Given the description of an element on the screen output the (x, y) to click on. 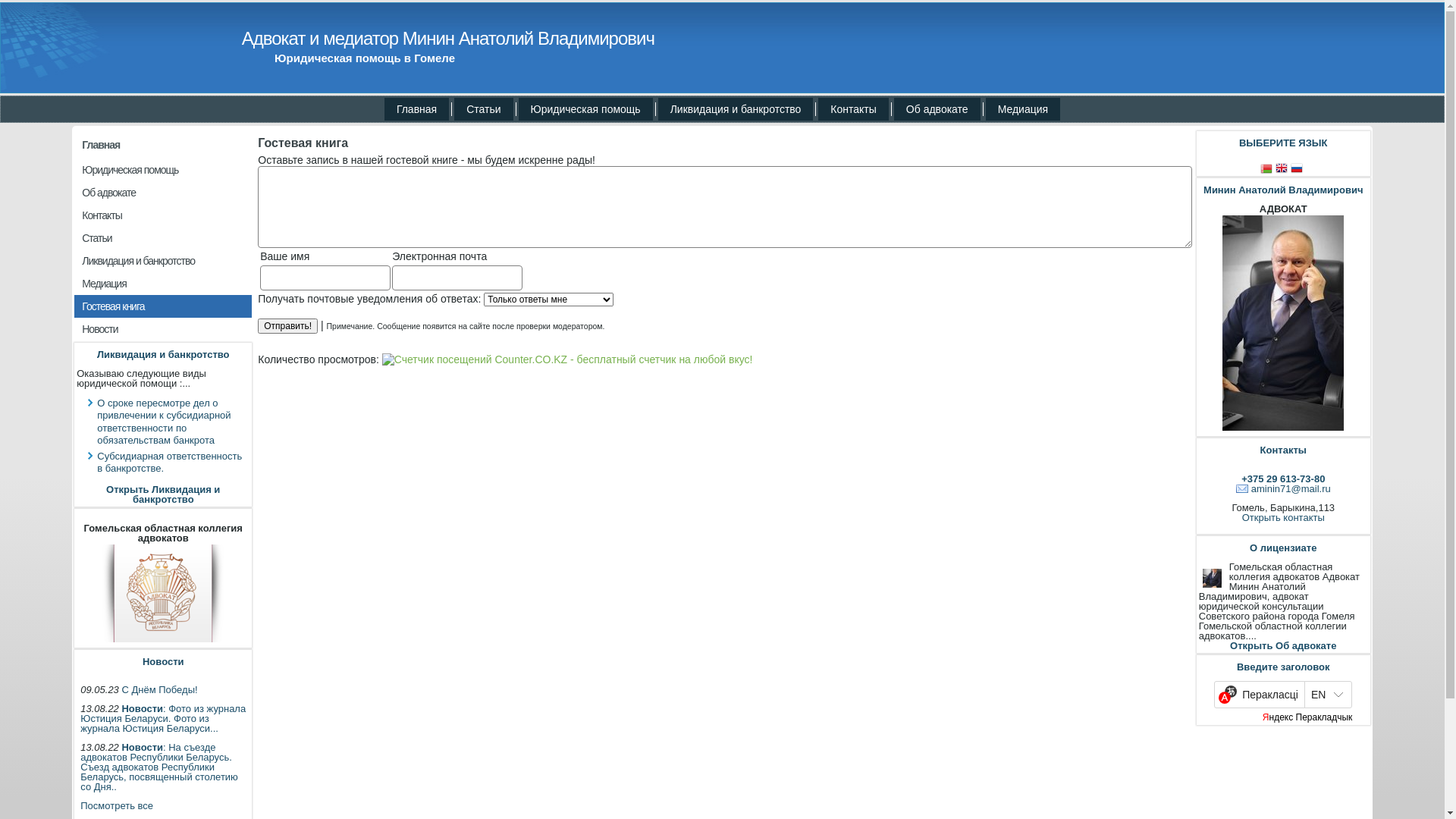
English Element type: hover (1282, 168)
aminin71@mail.ru Element type: text (1283, 488)
Belarusian Element type: hover (1267, 168)
Russian Element type: hover (1297, 168)
+375 29 613-73-80 Element type: text (1282, 478)
